Given the description of an element on the screen output the (x, y) to click on. 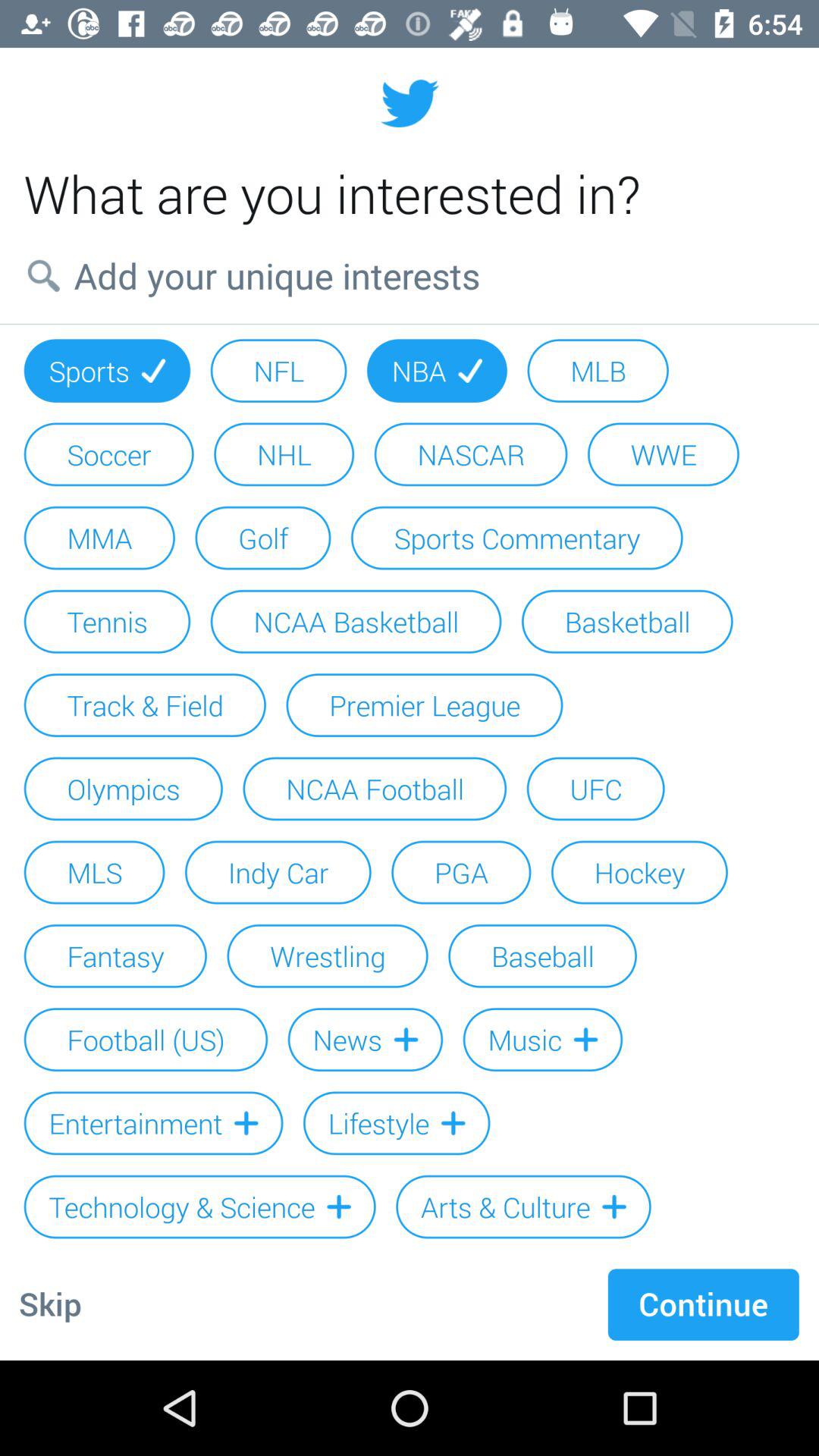
choose icon next to olympics icon (374, 788)
